Given the description of an element on the screen output the (x, y) to click on. 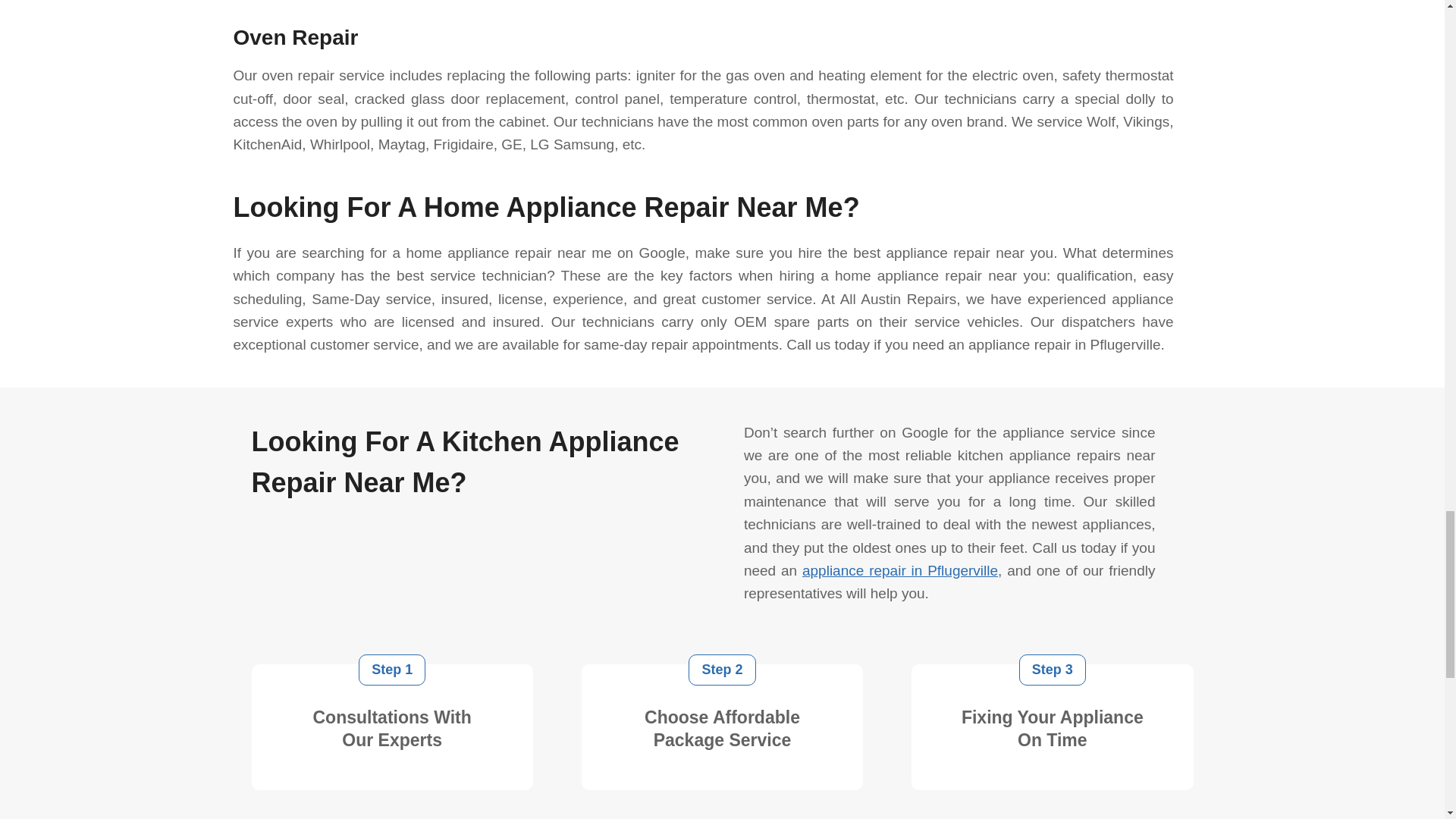
appliance repair in Pflugerville (899, 570)
